Given the description of an element on the screen output the (x, y) to click on. 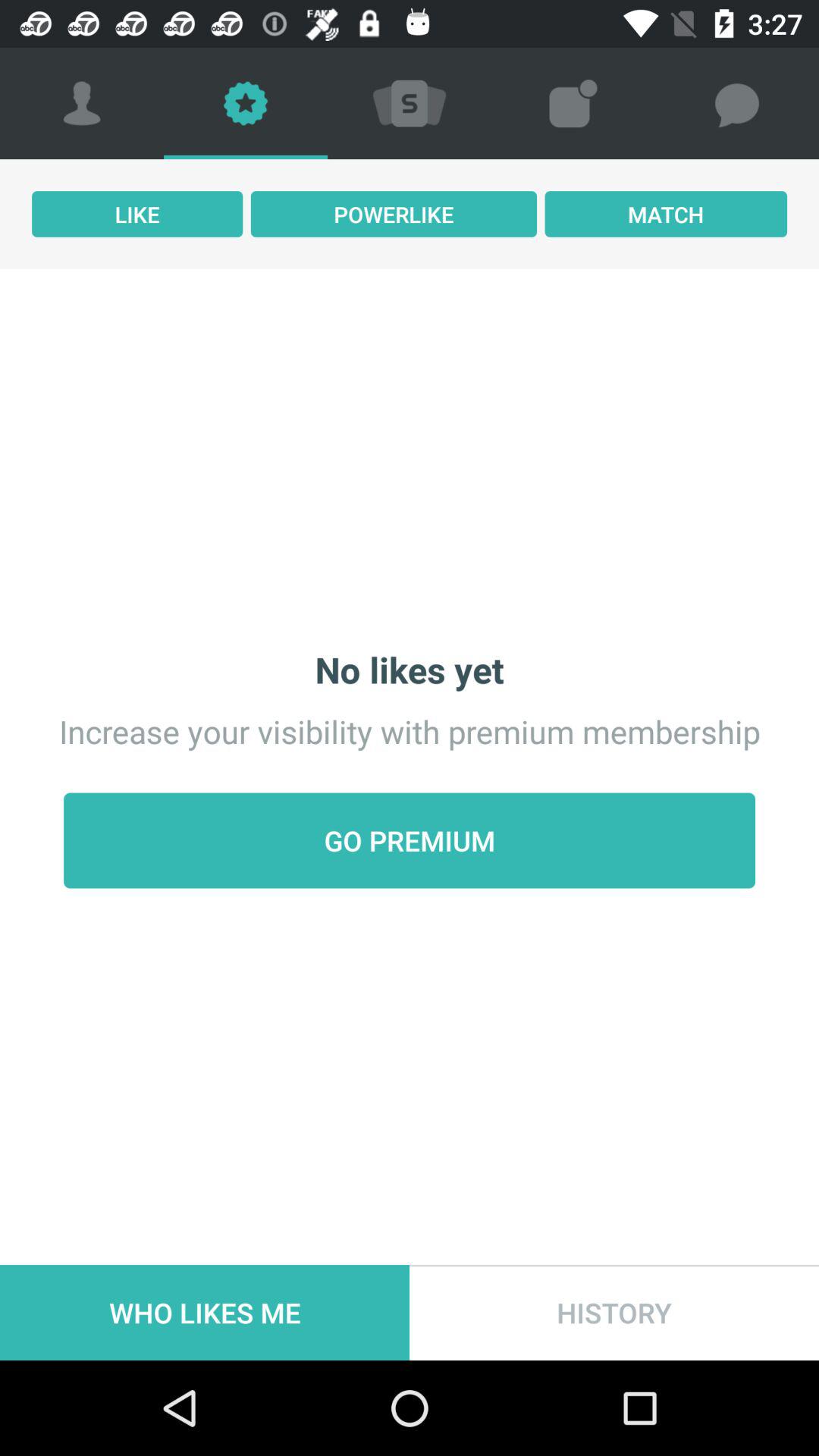
turn on the icon above who likes me icon (409, 840)
